Given the description of an element on the screen output the (x, y) to click on. 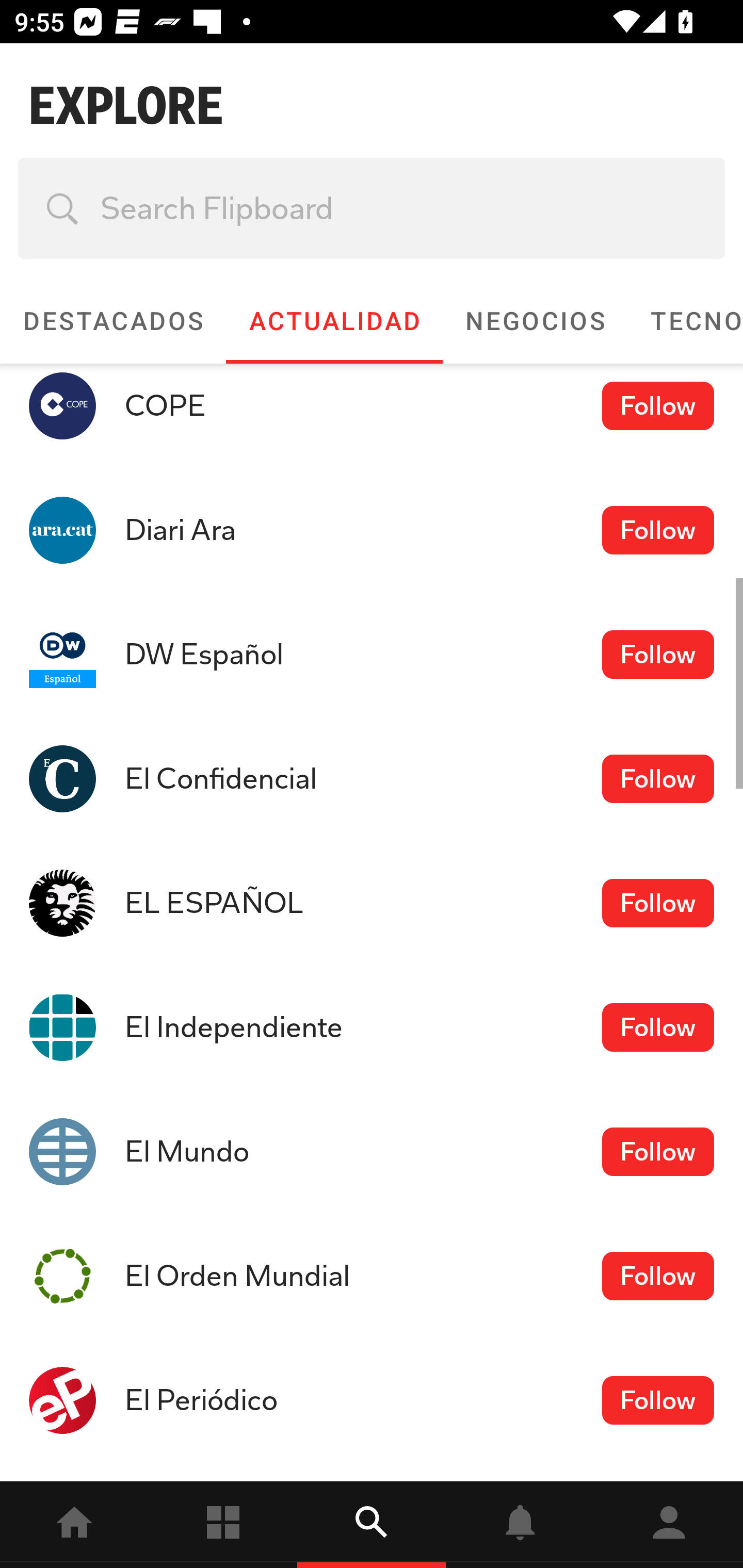
Search Flipboard (371, 208)
Destacados DESTACADOS (112, 320)
Negocios NEGOCIOS (534, 320)
Tecnología & Ciencia TECNOLOGÍA & CIENCIA (685, 320)
COPE Follow (371, 415)
Follow (657, 405)
Diari Ara Follow (371, 529)
Follow (657, 530)
DW Español Follow (371, 654)
Follow (657, 654)
El Confidencial Follow (371, 779)
Follow (657, 778)
EL ESPAÑOL Follow (371, 902)
Follow (657, 902)
El Independiente Follow (371, 1026)
Follow (657, 1027)
El Mundo Follow (371, 1151)
Follow (657, 1151)
El Orden Mundial Follow (371, 1276)
Follow (657, 1275)
El Periódico Follow (371, 1399)
Follow (657, 1400)
home (74, 1524)
Following (222, 1524)
explore (371, 1524)
Notifications (519, 1524)
Profile (668, 1524)
